Given the description of an element on the screen output the (x, y) to click on. 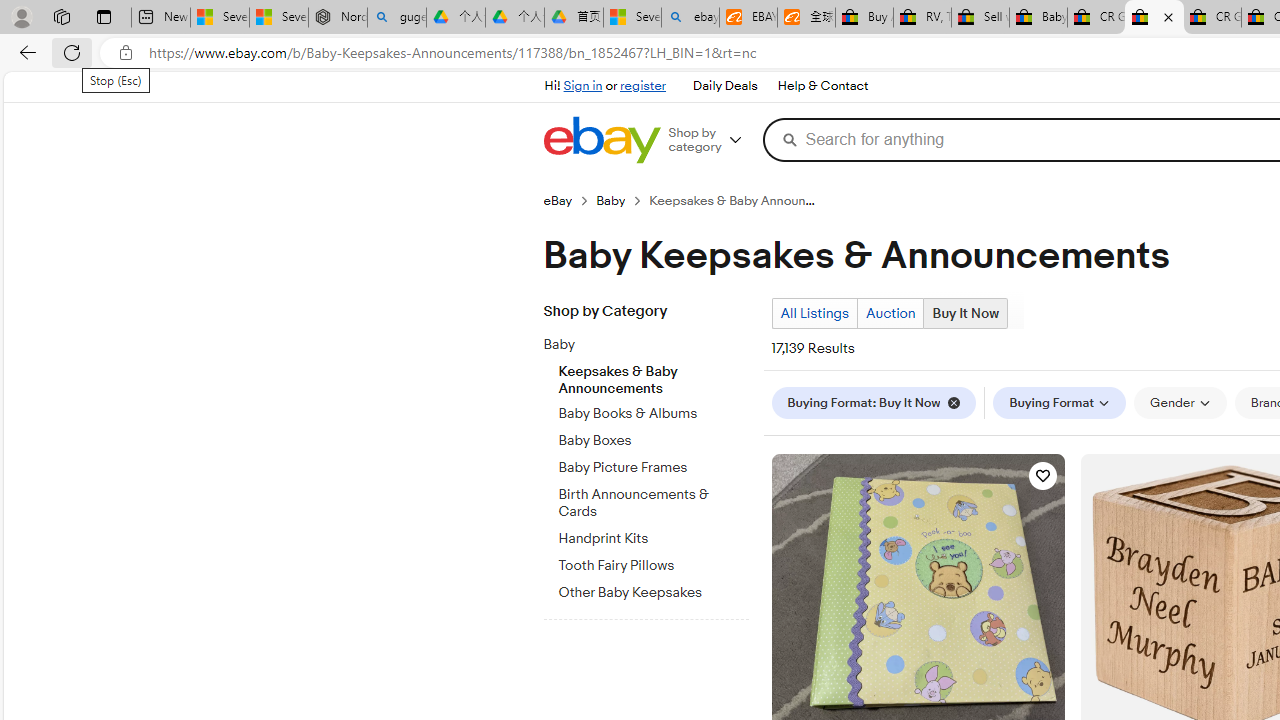
Baby Books & Albums (653, 410)
Sign in (582, 85)
Back (24, 52)
Baby (653, 341)
Close tab (1168, 16)
Sell worldwide with eBay (980, 17)
eBay Home (601, 139)
ebay - Search (690, 17)
Baby Boxes (653, 441)
All Listings (813, 313)
Buying Format (1059, 402)
